Given the description of an element on the screen output the (x, y) to click on. 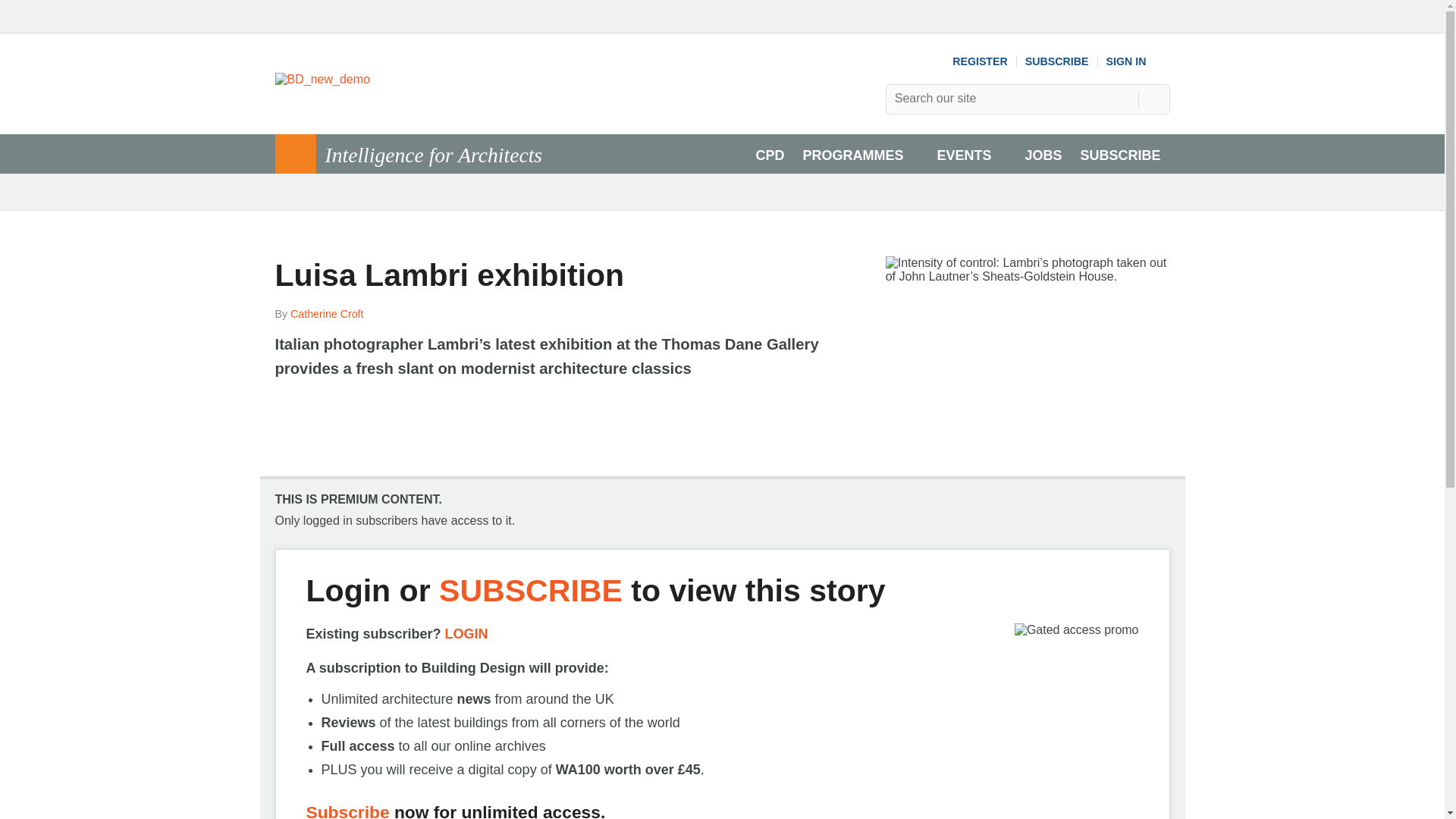
SIGN IN (1138, 61)
SUBSCRIBE (1057, 61)
REGISTER (979, 61)
SEARCH (1153, 98)
